Given the description of an element on the screen output the (x, y) to click on. 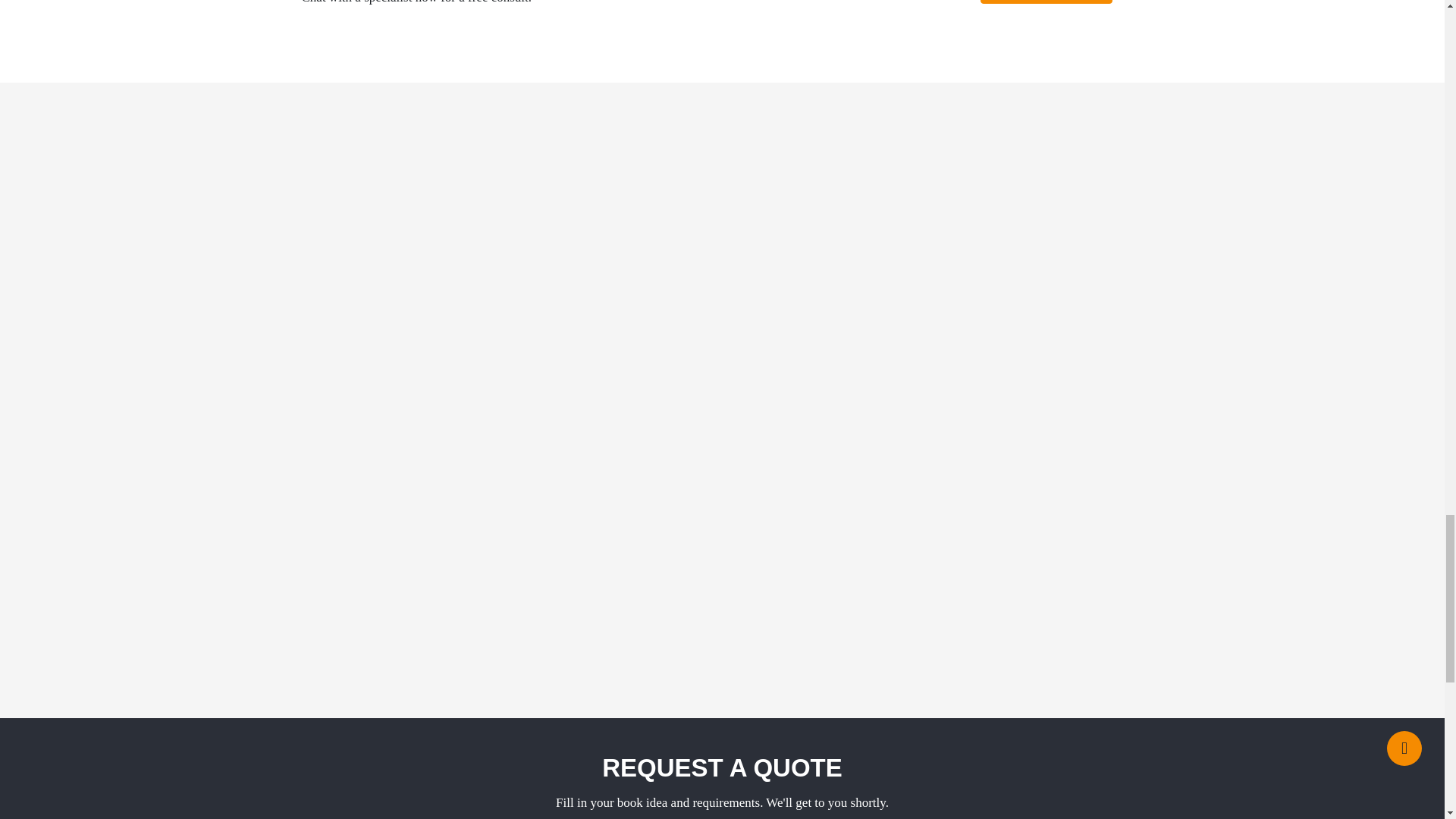
VIEW PLANS   (1045, 2)
